Given the description of an element on the screen output the (x, y) to click on. 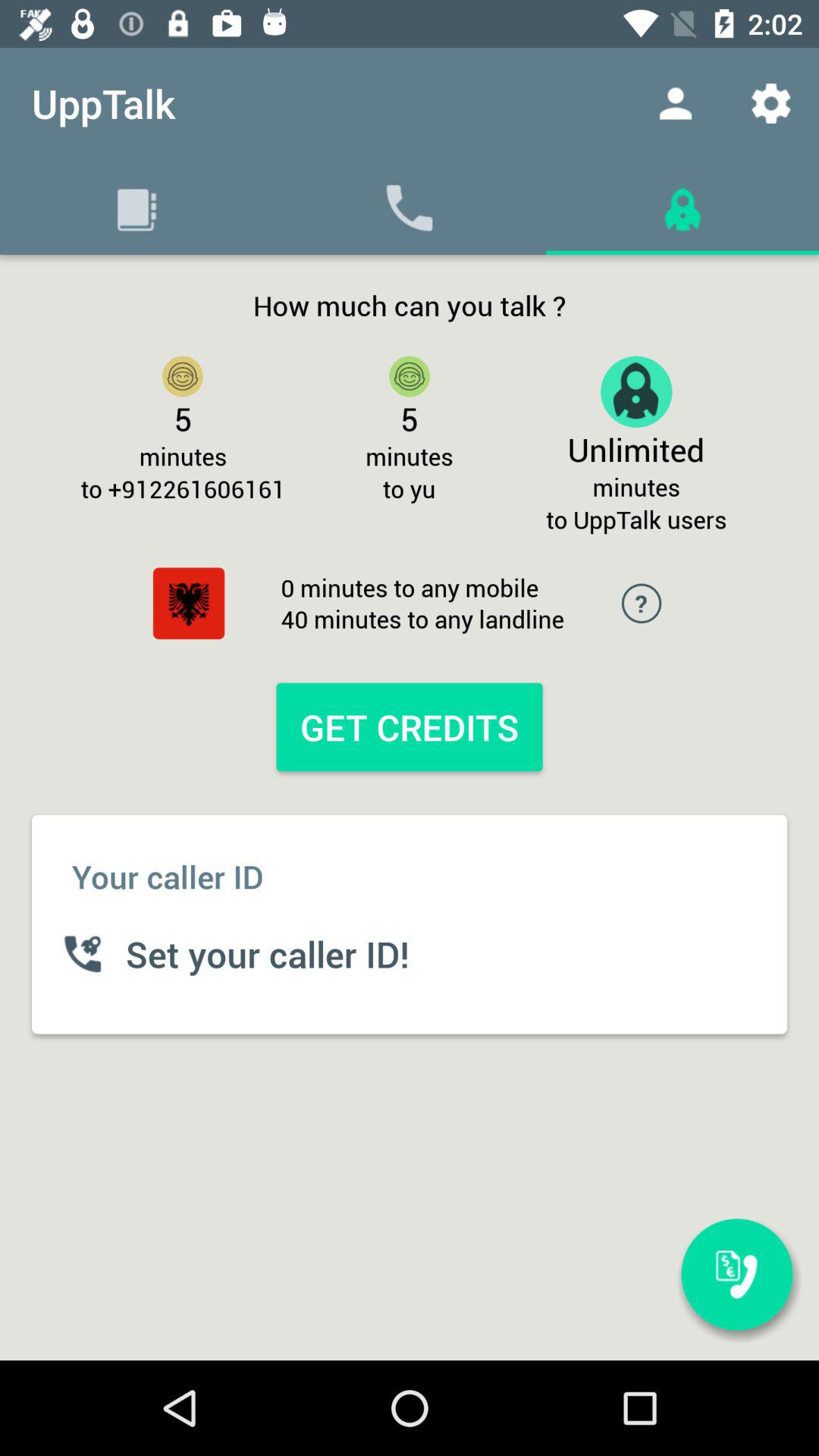
click item above the your caller id item (188, 603)
